Given the description of an element on the screen output the (x, y) to click on. 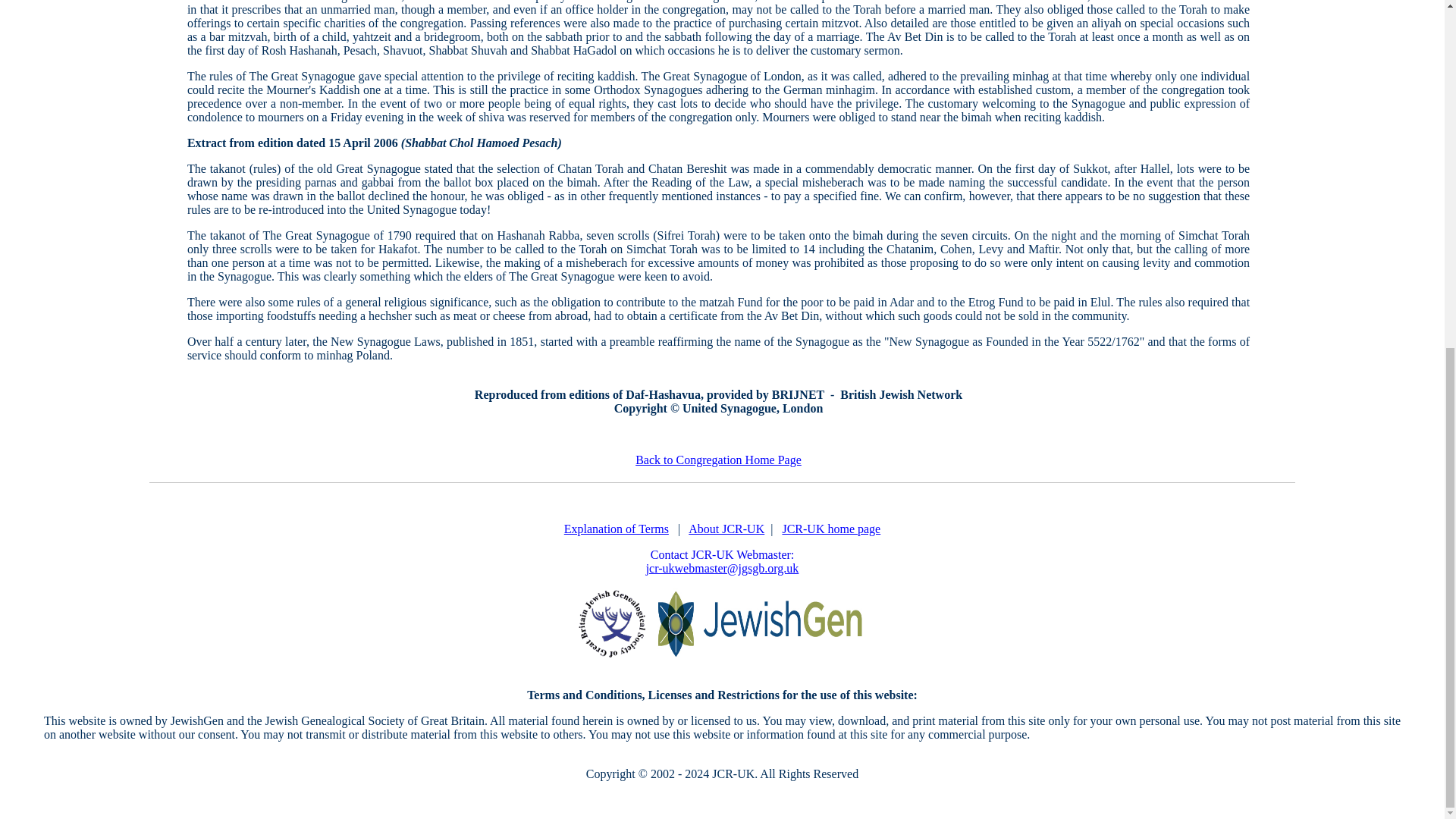
JCR-UK home page (830, 528)
Back to Congregation Home Page (718, 459)
Explanation of Terms (616, 528)
About JCR-UK (726, 528)
